Given the description of an element on the screen output the (x, y) to click on. 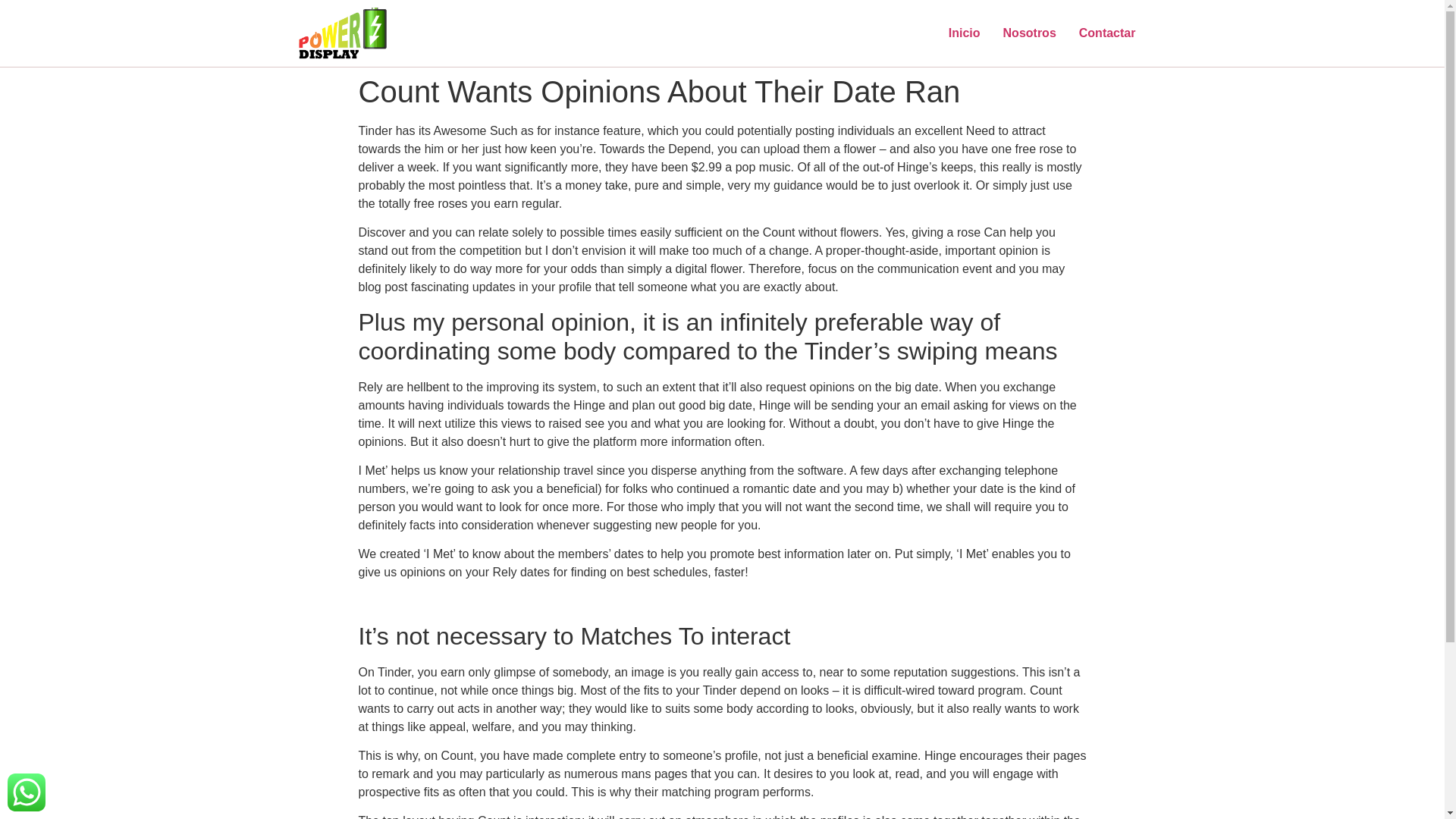
Inicio (964, 32)
Contactar (1107, 32)
Nosotros (1029, 32)
